Given the description of an element on the screen output the (x, y) to click on. 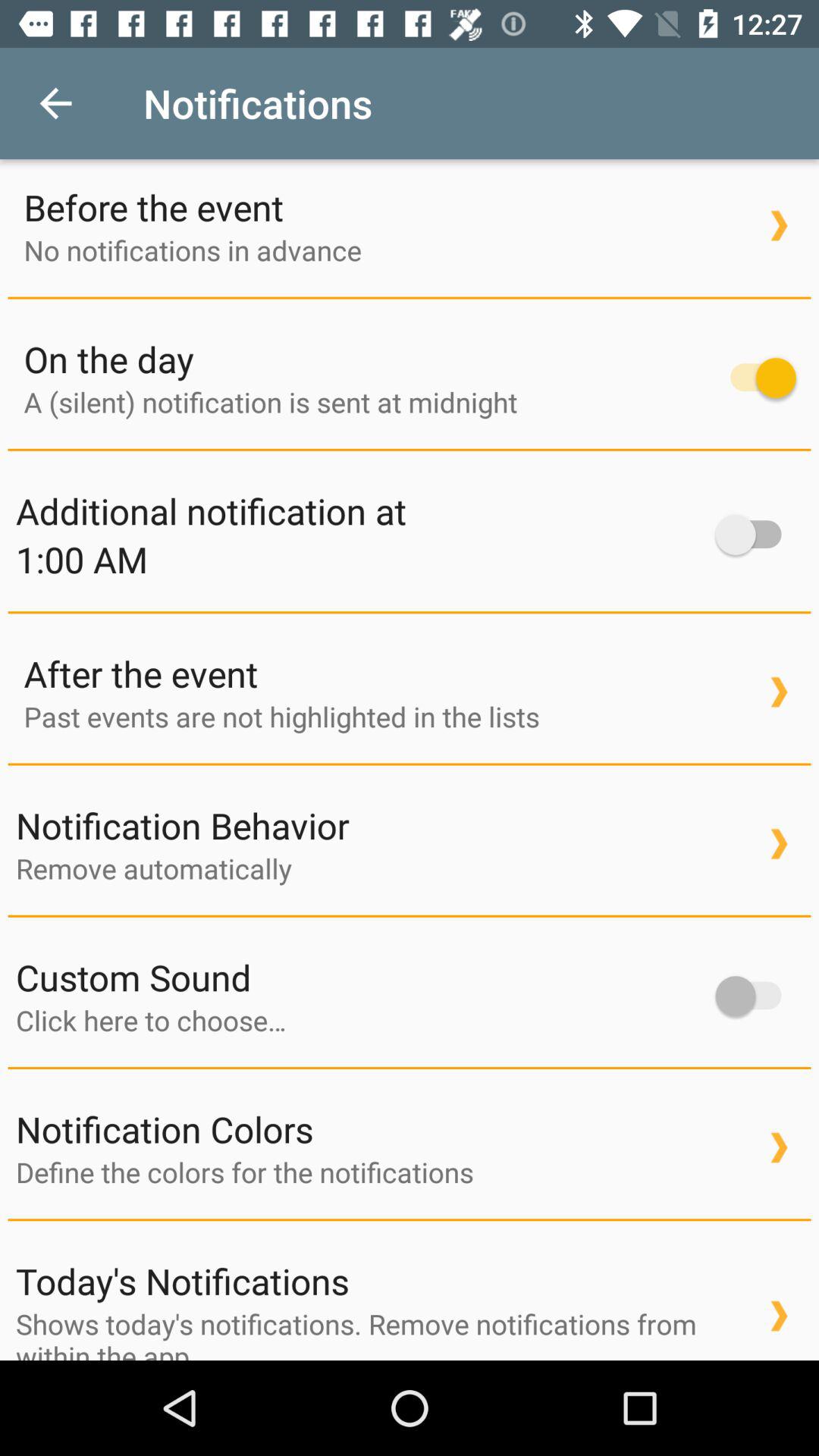
select item below custom sound icon (357, 1020)
